Given the description of an element on the screen output the (x, y) to click on. 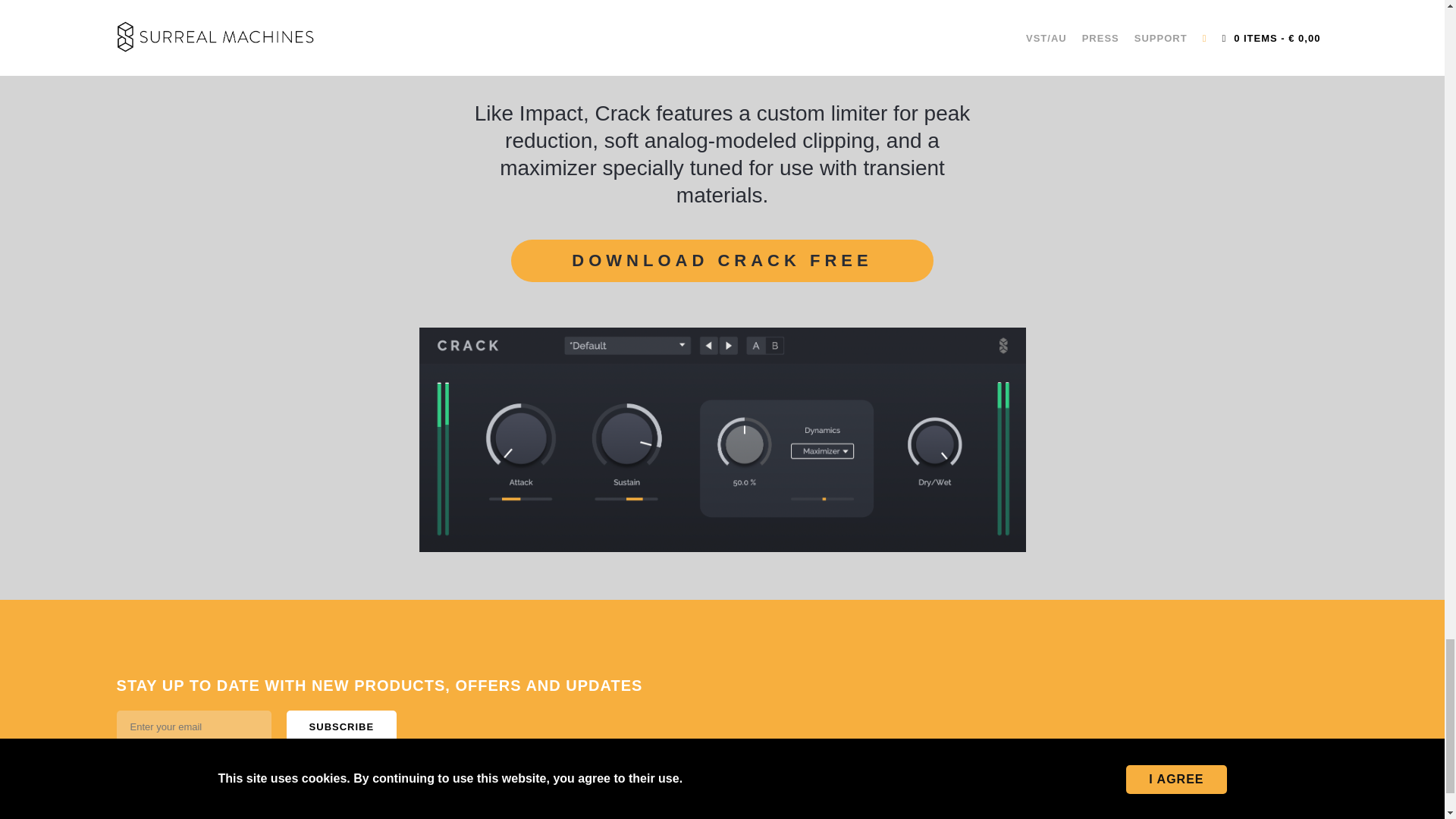
Subscribe (341, 726)
DOWNLOAD CRACK FREE (722, 260)
Subscribe (341, 726)
